Given the description of an element on the screen output the (x, y) to click on. 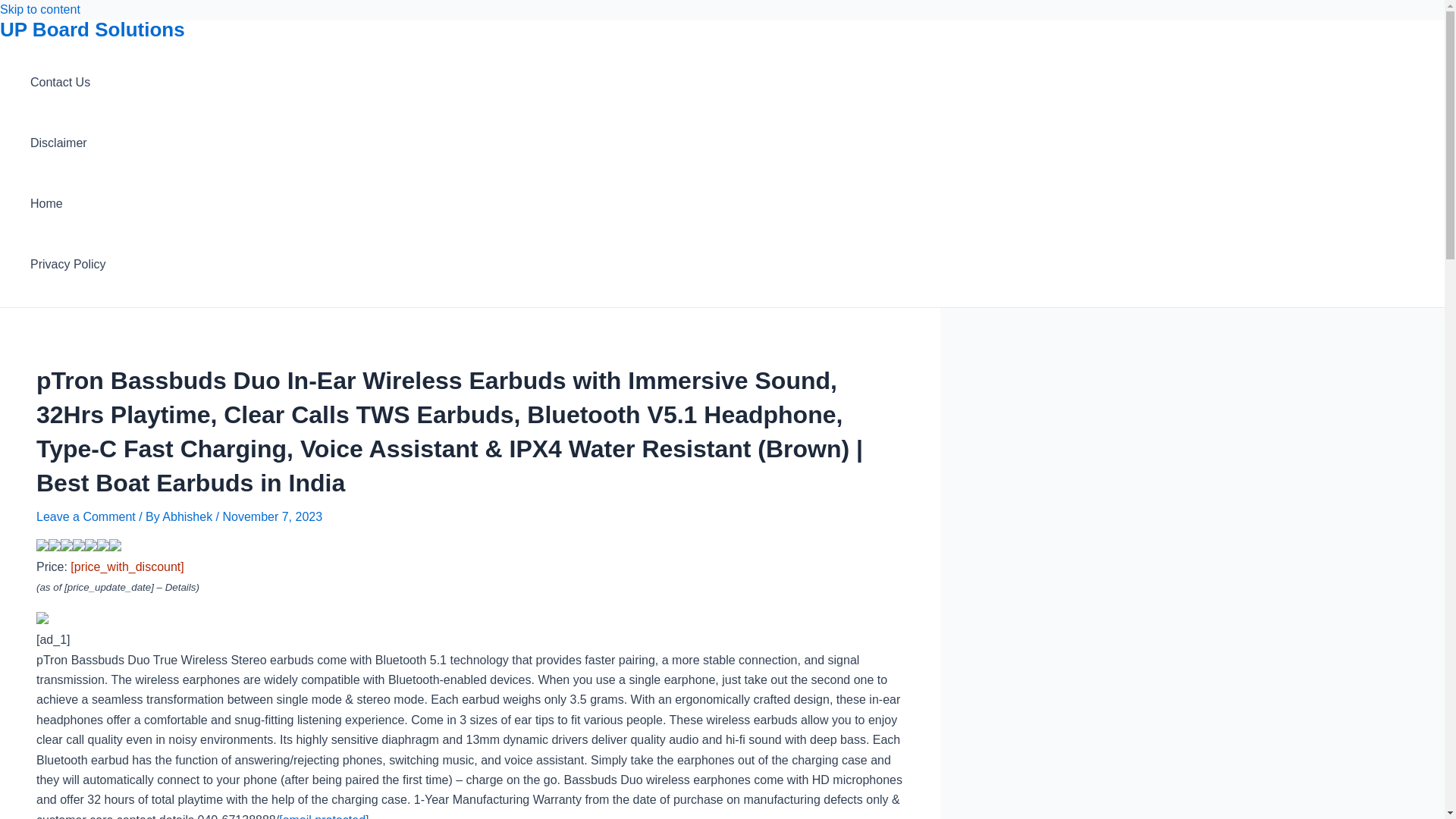
UP Board Solutions (92, 29)
Disclaimer (68, 143)
Contact Us (68, 82)
Skip to content (40, 9)
Leave a Comment (85, 516)
Abhishek (188, 516)
View all posts by Abhishek (188, 516)
Home (68, 203)
Privacy Policy (68, 264)
Skip to content (40, 9)
